Given the description of an element on the screen output the (x, y) to click on. 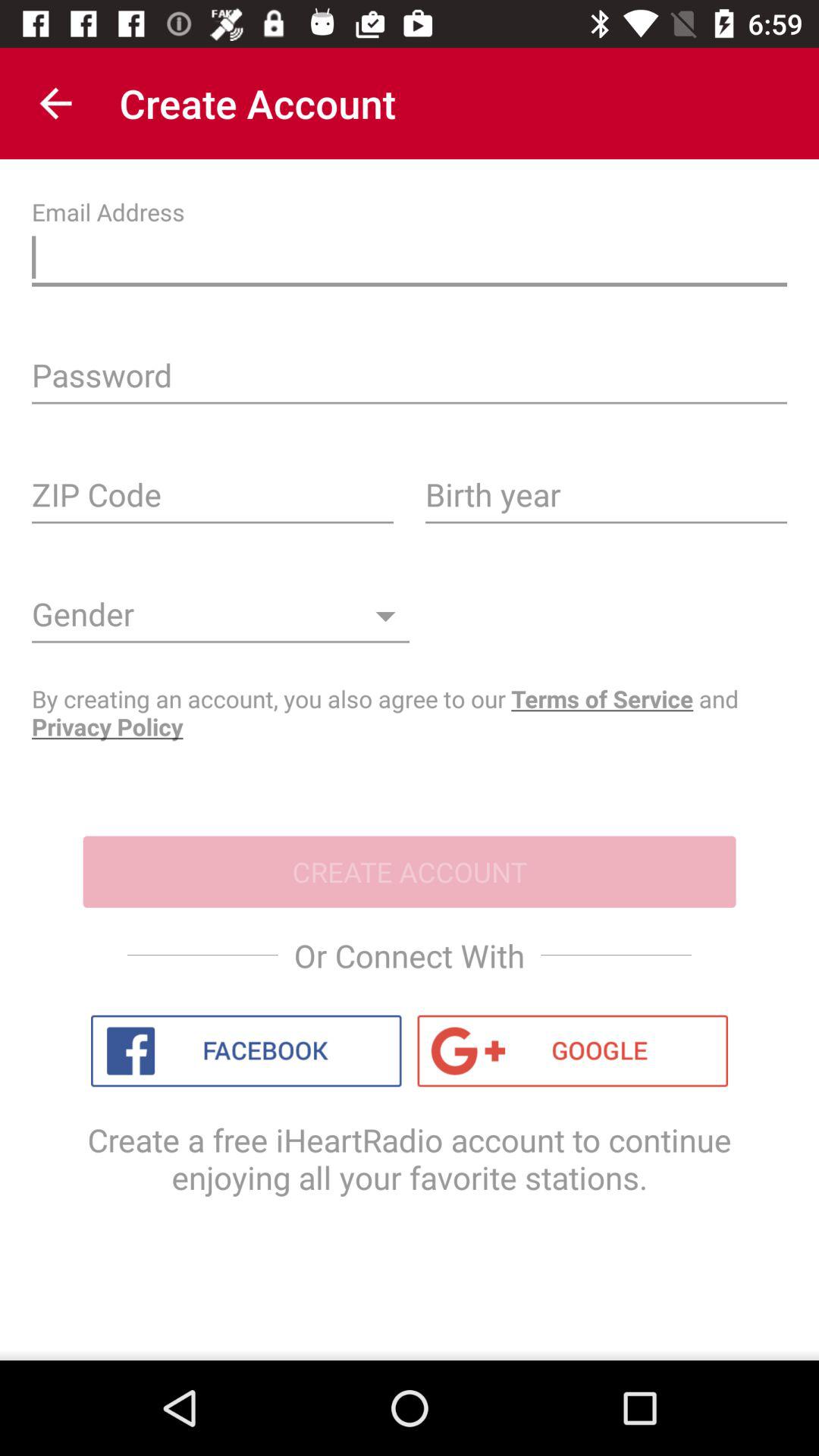
enter your zip code (212, 499)
